Given the description of an element on the screen output the (x, y) to click on. 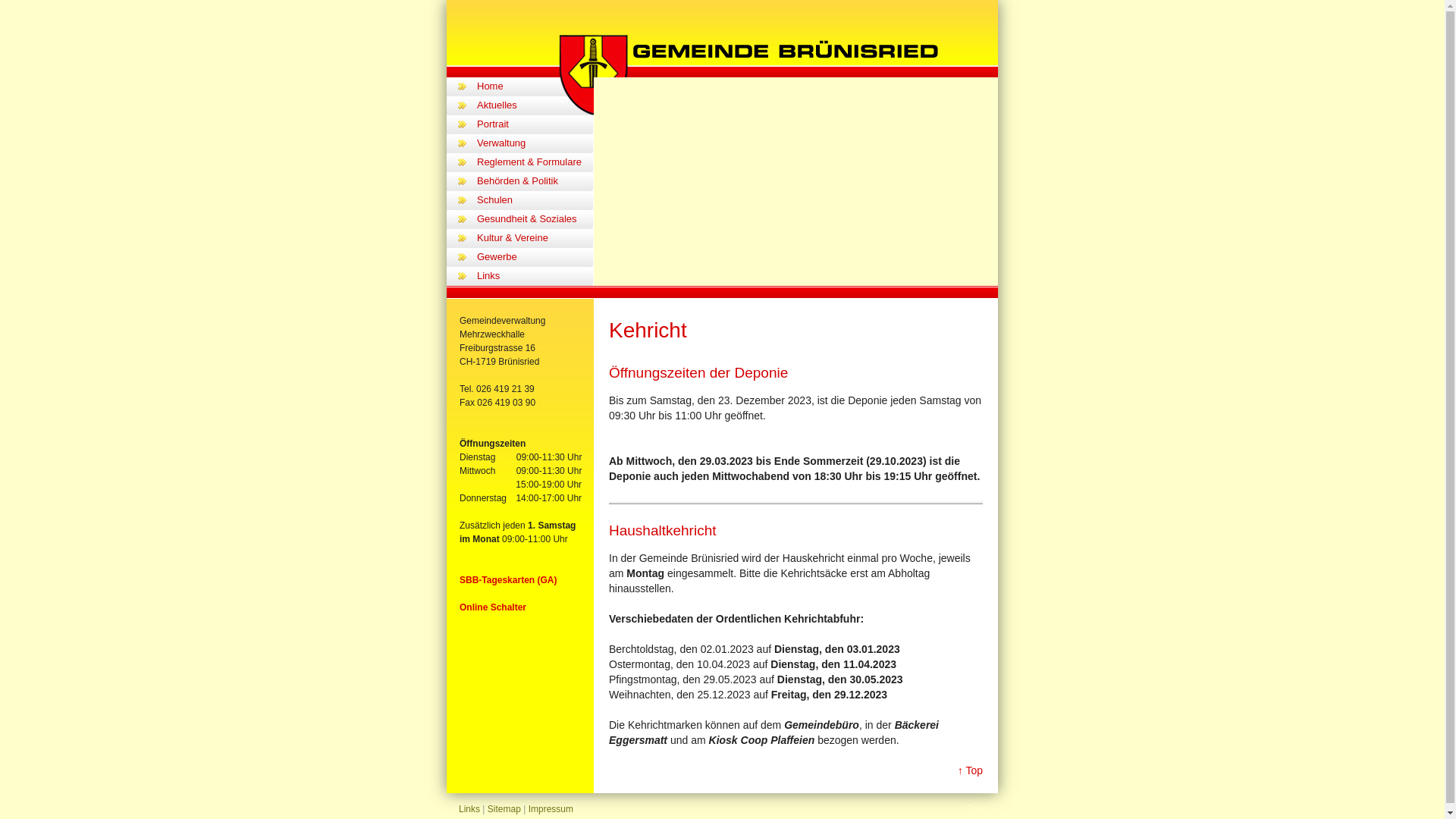
Aktuelles Element type: text (535, 105)
Impressum Element type: text (550, 808)
Reglement & Formulare Element type: text (535, 162)
Links Element type: text (469, 808)
Sitemap Element type: text (503, 808)
Links Element type: text (535, 275)
Schulen Element type: text (535, 200)
Verwaltung Element type: text (535, 143)
Kultur & Vereine Element type: text (535, 238)
Gewerbe Element type: text (535, 256)
SBB-Tageskarten (GA) Element type: text (507, 579)
Gesundheit & Soziales Element type: text (535, 219)
Online Schalter Element type: text (492, 607)
Portrait Element type: text (535, 124)
Home Element type: text (535, 86)
Editor Element type: text (966, 808)
